Given the description of an element on the screen output the (x, y) to click on. 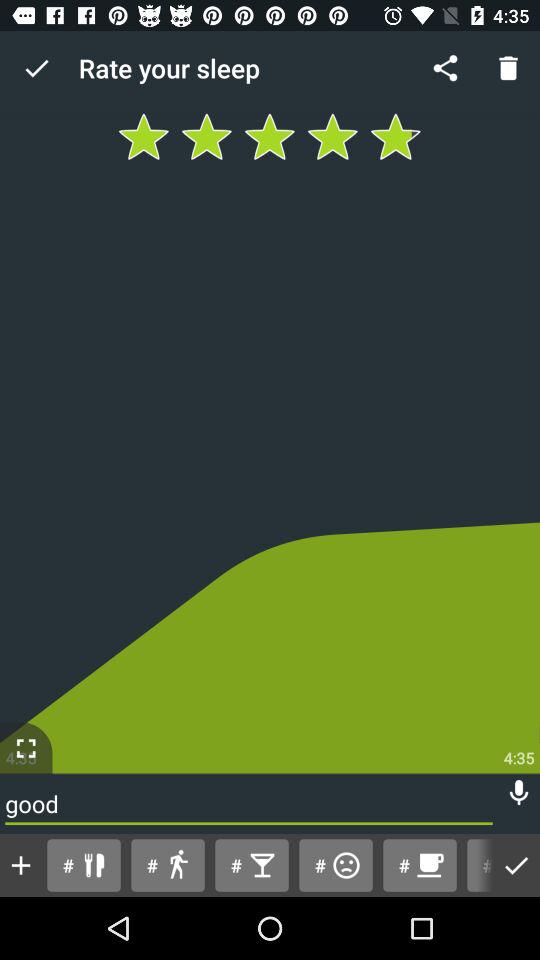
enable full screen (26, 748)
